Given the description of an element on the screen output the (x, y) to click on. 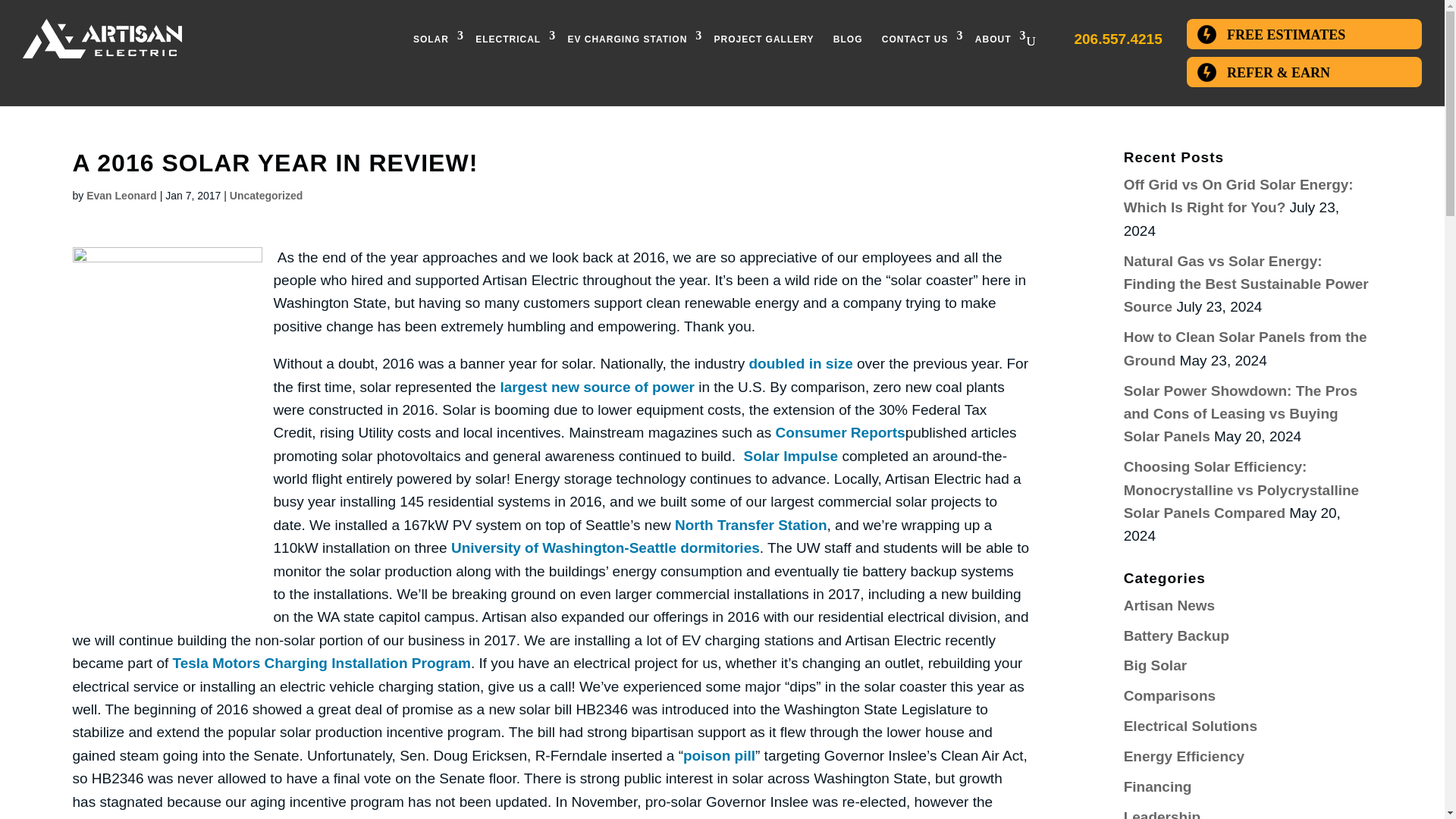
CONTACT US (919, 43)
BLOG (847, 43)
ELECTRICAL (511, 43)
EV CHARGING STATION (630, 43)
Posts by Evan Leonard (121, 195)
SOLAR (435, 43)
ABOUT (997, 43)
PROJECT GALLERY (764, 43)
